Given the description of an element on the screen output the (x, y) to click on. 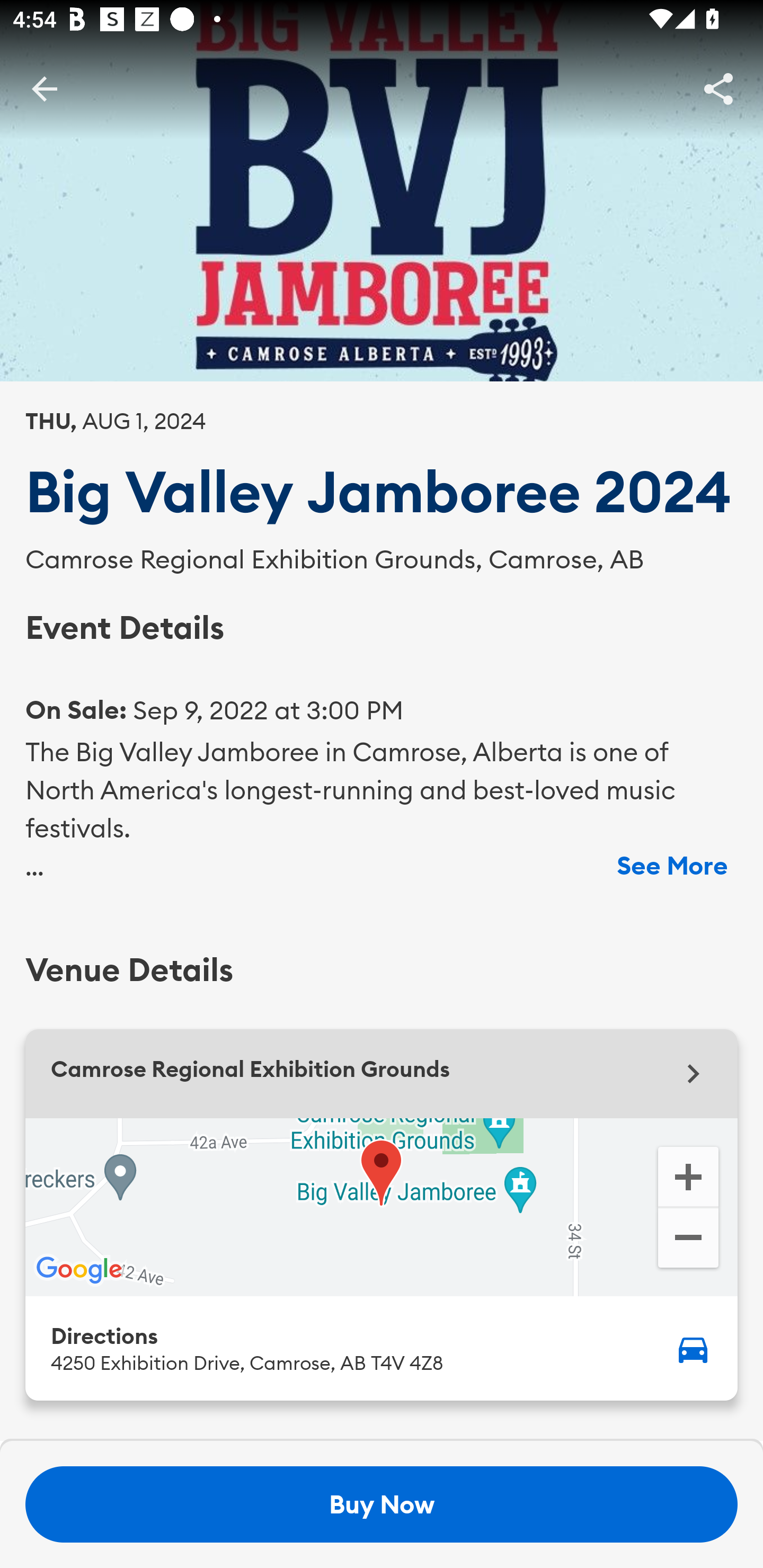
BackButton (44, 88)
Share (718, 88)
See More (671, 865)
Camrose Regional Exhibition Grounds (381, 1072)
Zoom in (687, 1175)
Zoom out (687, 1239)
Buy Now (381, 1504)
